Given the description of an element on the screen output the (x, y) to click on. 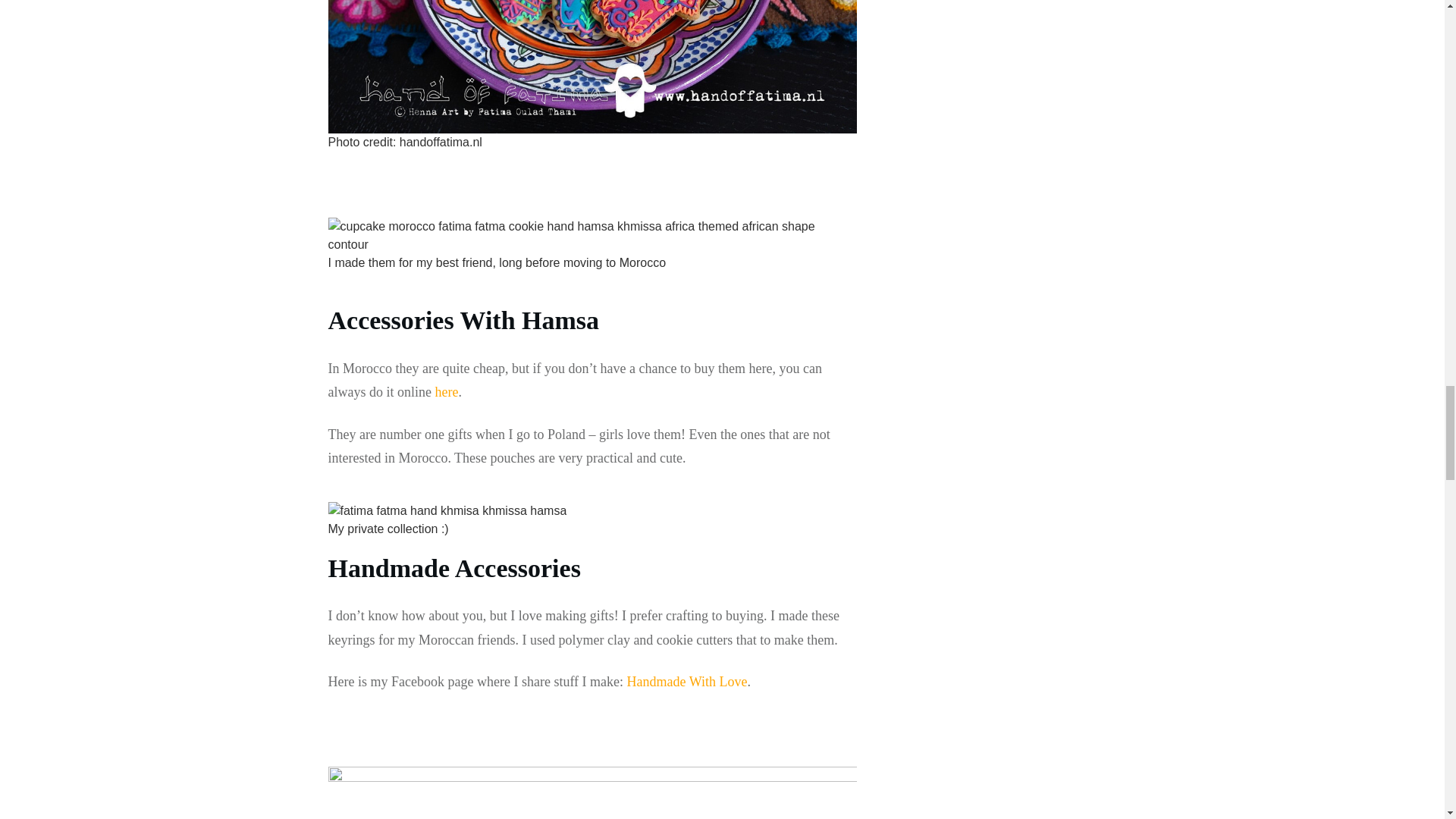
here (445, 391)
Handmade With Love (687, 681)
